Given the description of an element on the screen output the (x, y) to click on. 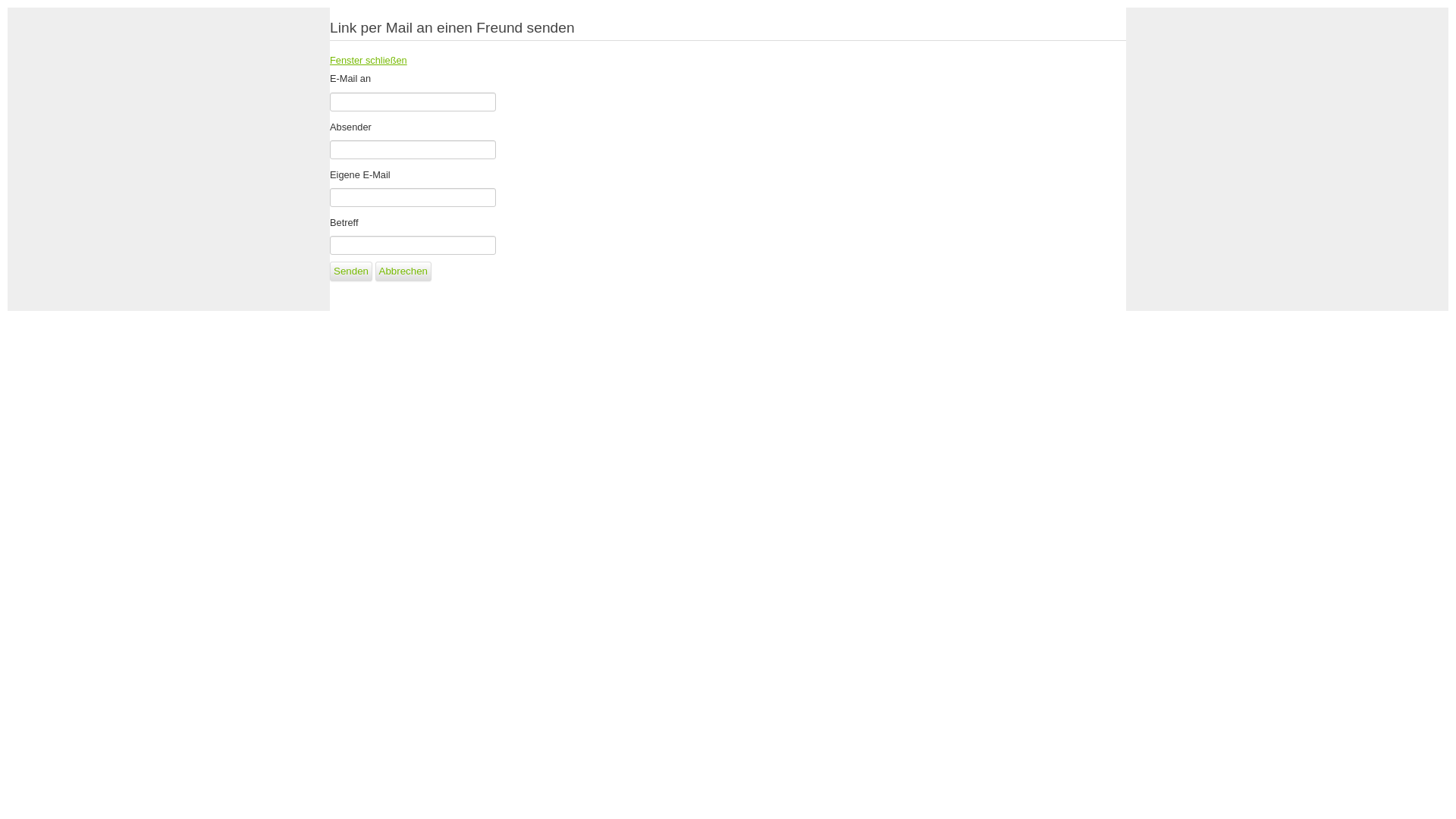
Abbrechen Element type: text (403, 271)
Senden Element type: text (350, 271)
